Given the description of an element on the screen output the (x, y) to click on. 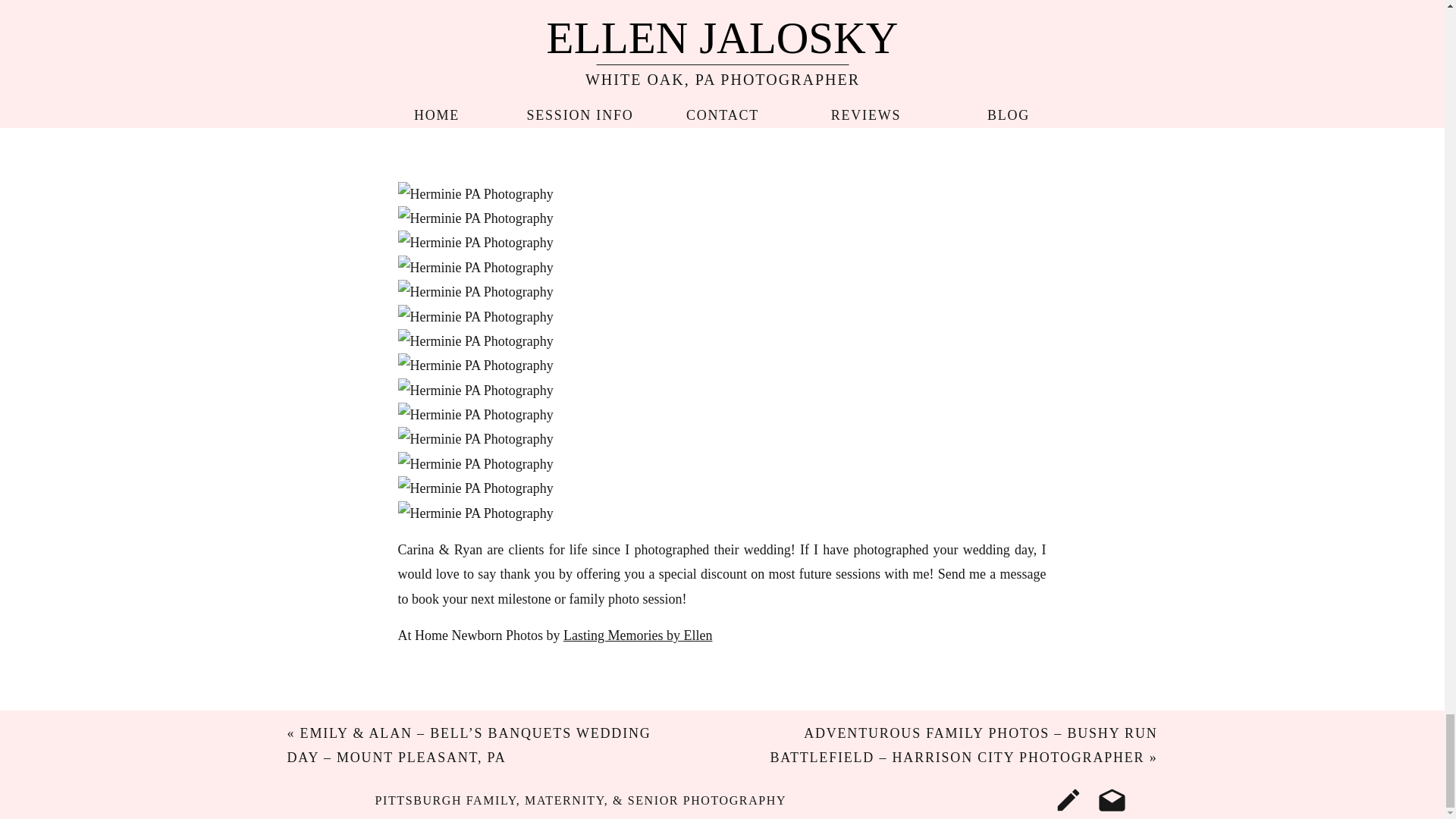
At Home Newborn Photos (475, 242)
At Home Newborn Photos (475, 218)
Lasting Memories by Ellen (637, 635)
At Home Newborn Photos (475, 267)
At Home Newborn Photos (475, 193)
At Home Newborn Photos (721, 86)
